Given the description of an element on the screen output the (x, y) to click on. 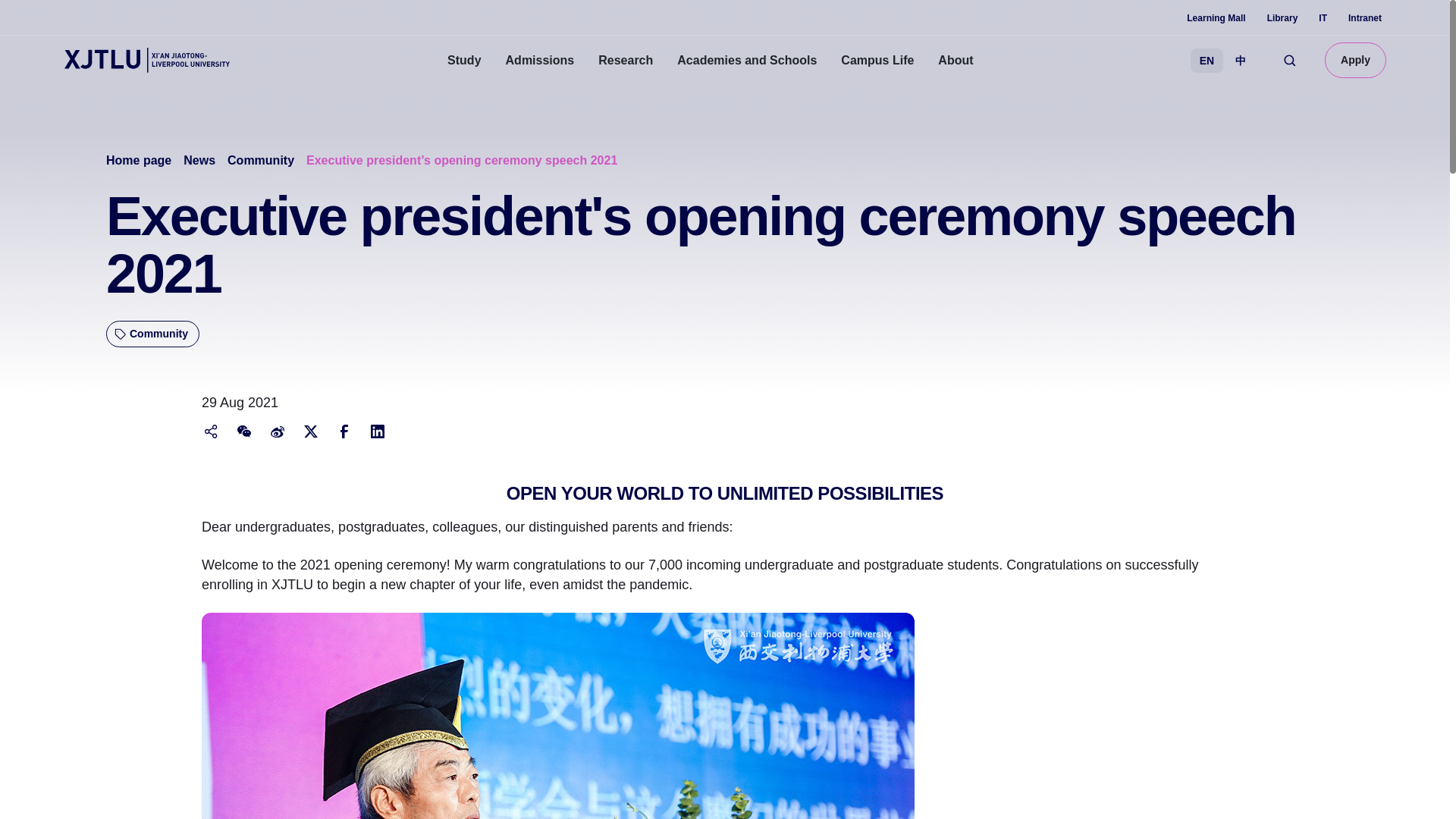
Study (464, 60)
Admissions (539, 60)
Intranet (1364, 18)
Learning Mall (1215, 18)
Library (1282, 18)
